Given the description of an element on the screen output the (x, y) to click on. 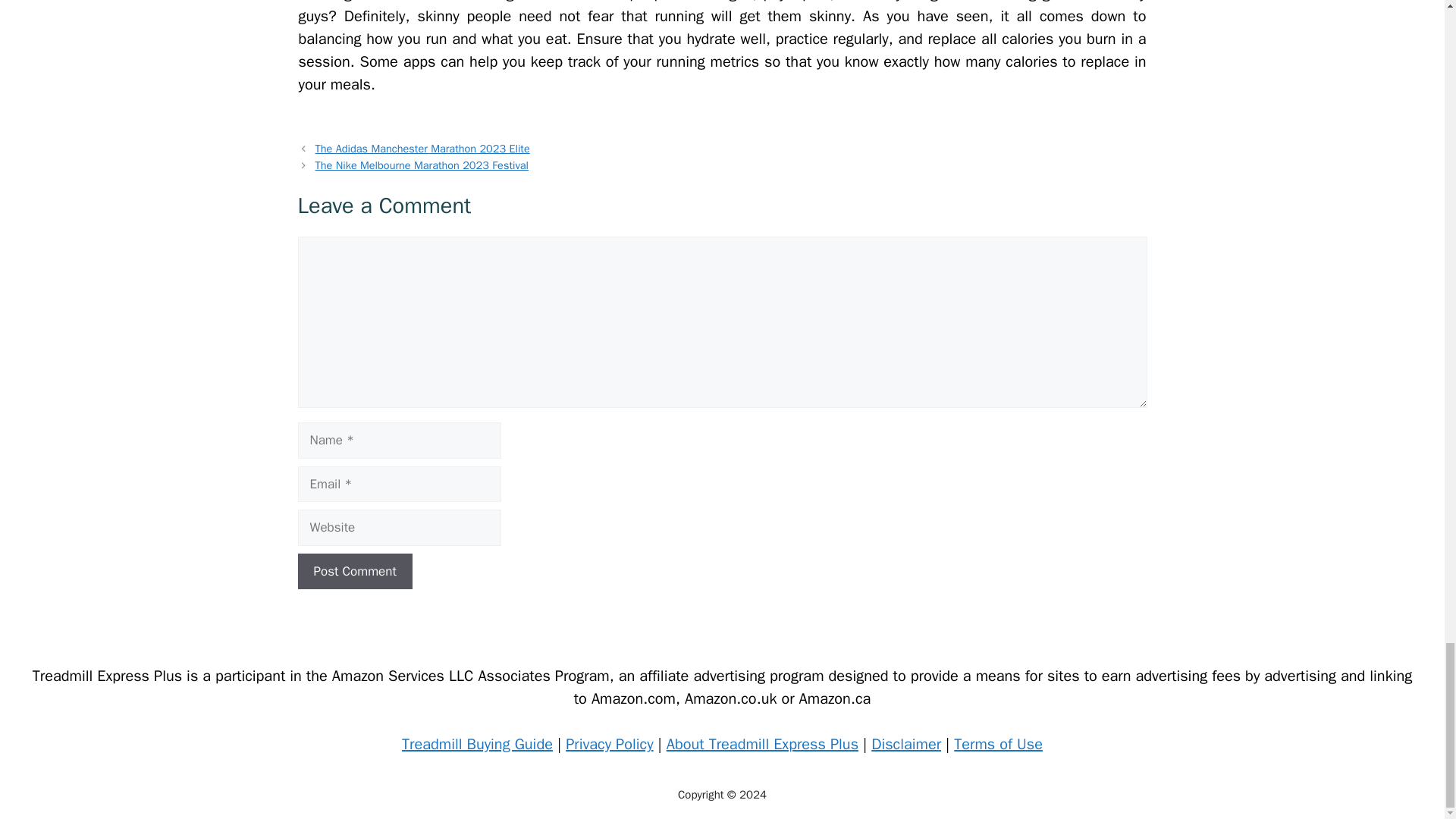
About Treadmill Express Plus (762, 743)
Terms of Use (997, 743)
The Nike Melbourne Marathon 2023 Festival (421, 164)
Post Comment (354, 571)
The Adidas Manchester Marathon 2023 Elite (422, 148)
Post Comment (354, 571)
Treadmill Buying Guide (477, 743)
Privacy Policy (609, 743)
Disclaimer (905, 743)
